Given the description of an element on the screen output the (x, y) to click on. 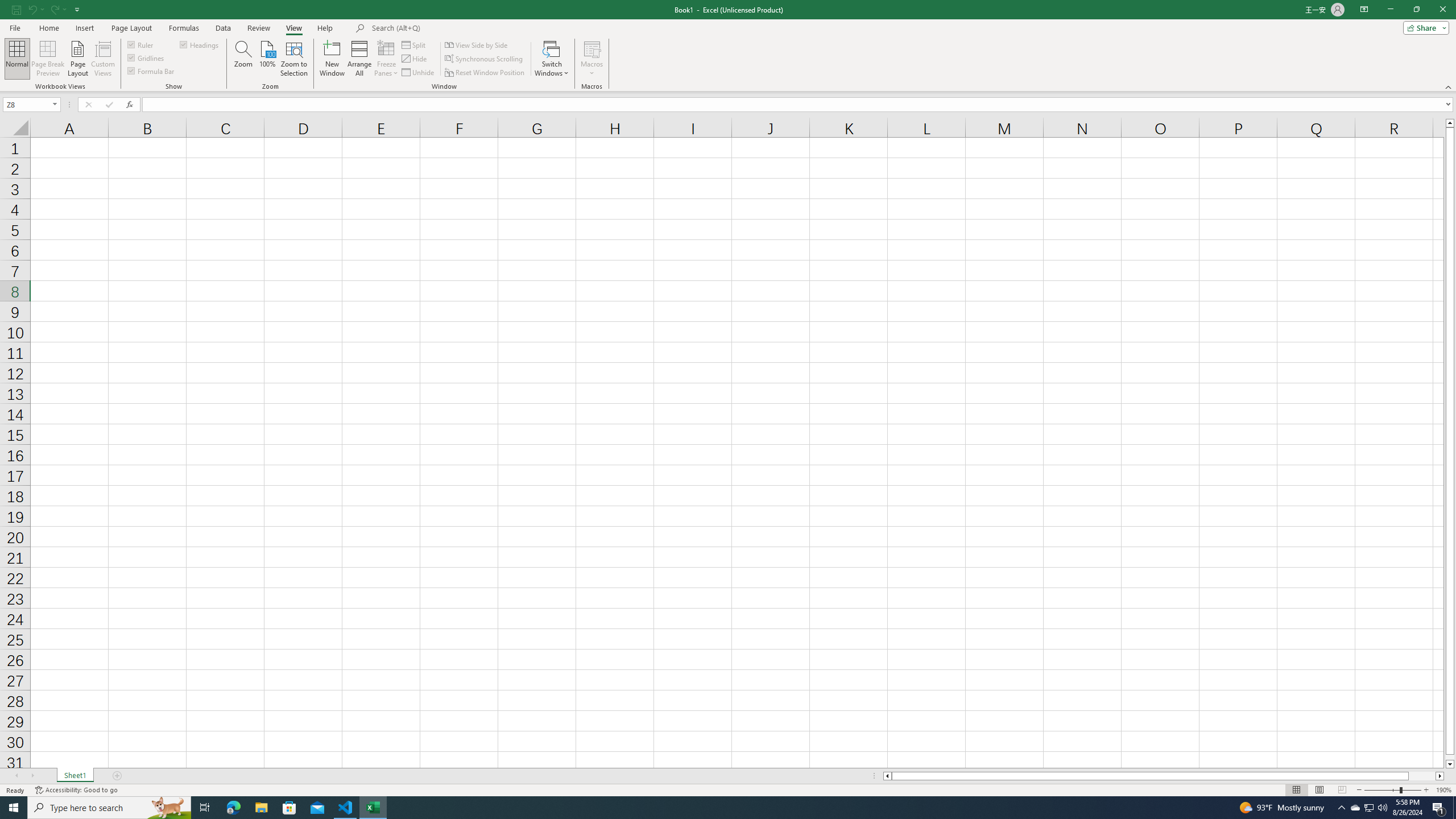
Custom Views... (103, 58)
Arrange All (359, 58)
New Window (332, 58)
Switch Windows (551, 58)
